Given the description of an element on the screen output the (x, y) to click on. 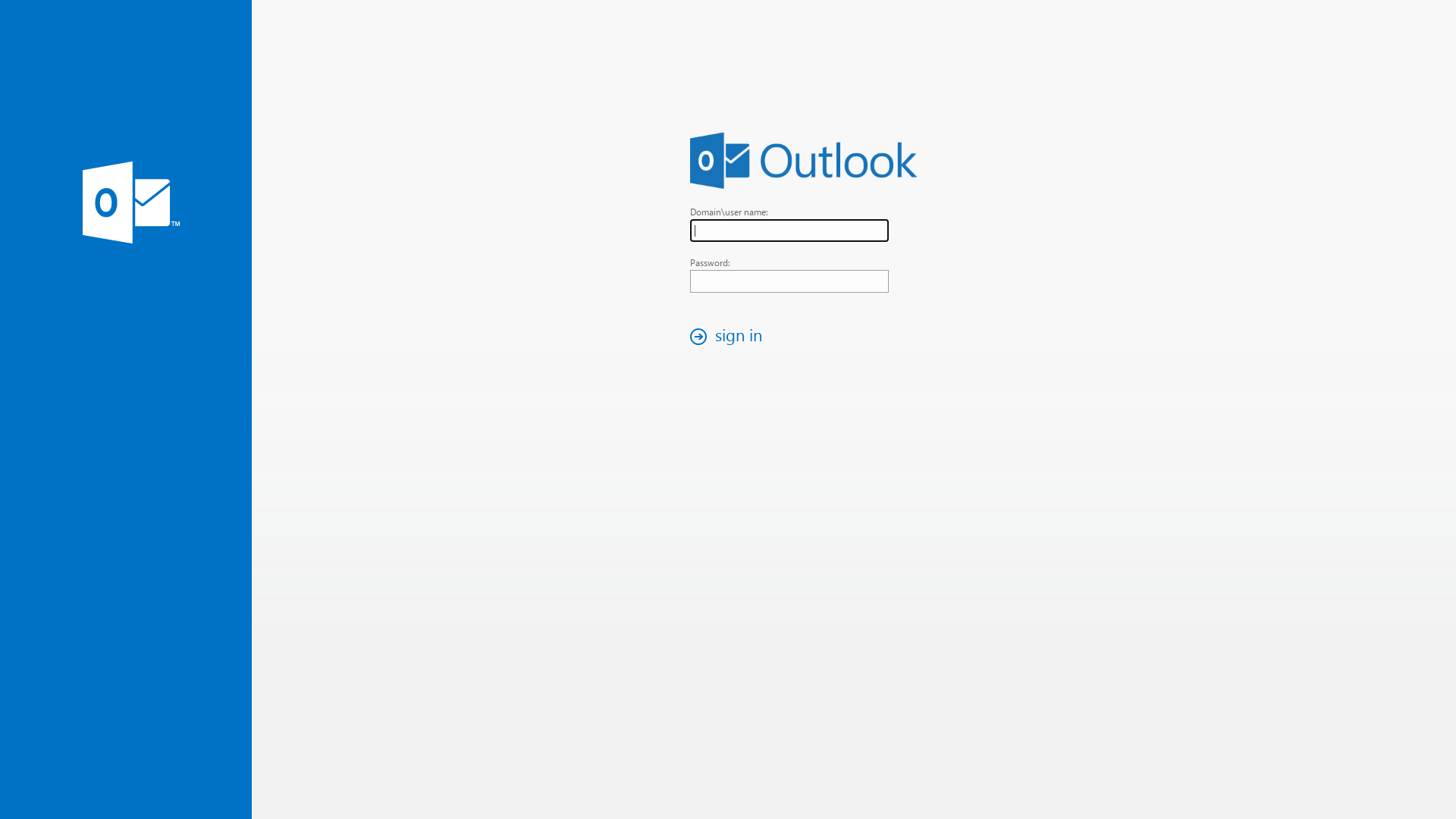
sign in Element type: text (730, 336)
